Given the description of an element on the screen output the (x, y) to click on. 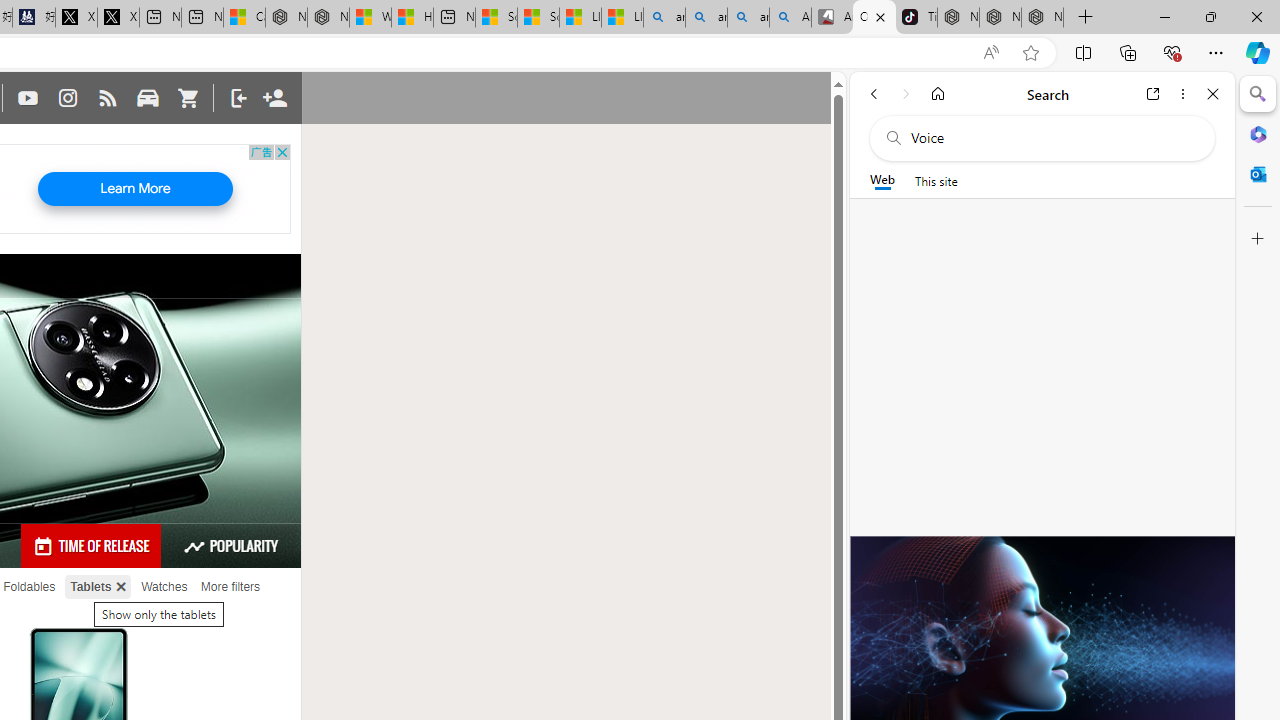
Watches (164, 587)
OnePlus tablets (873, 17)
Search the web (1051, 137)
amazon - Search Images (748, 17)
More filters (230, 587)
More filters (230, 587)
